Given the description of an element on the screen output the (x, y) to click on. 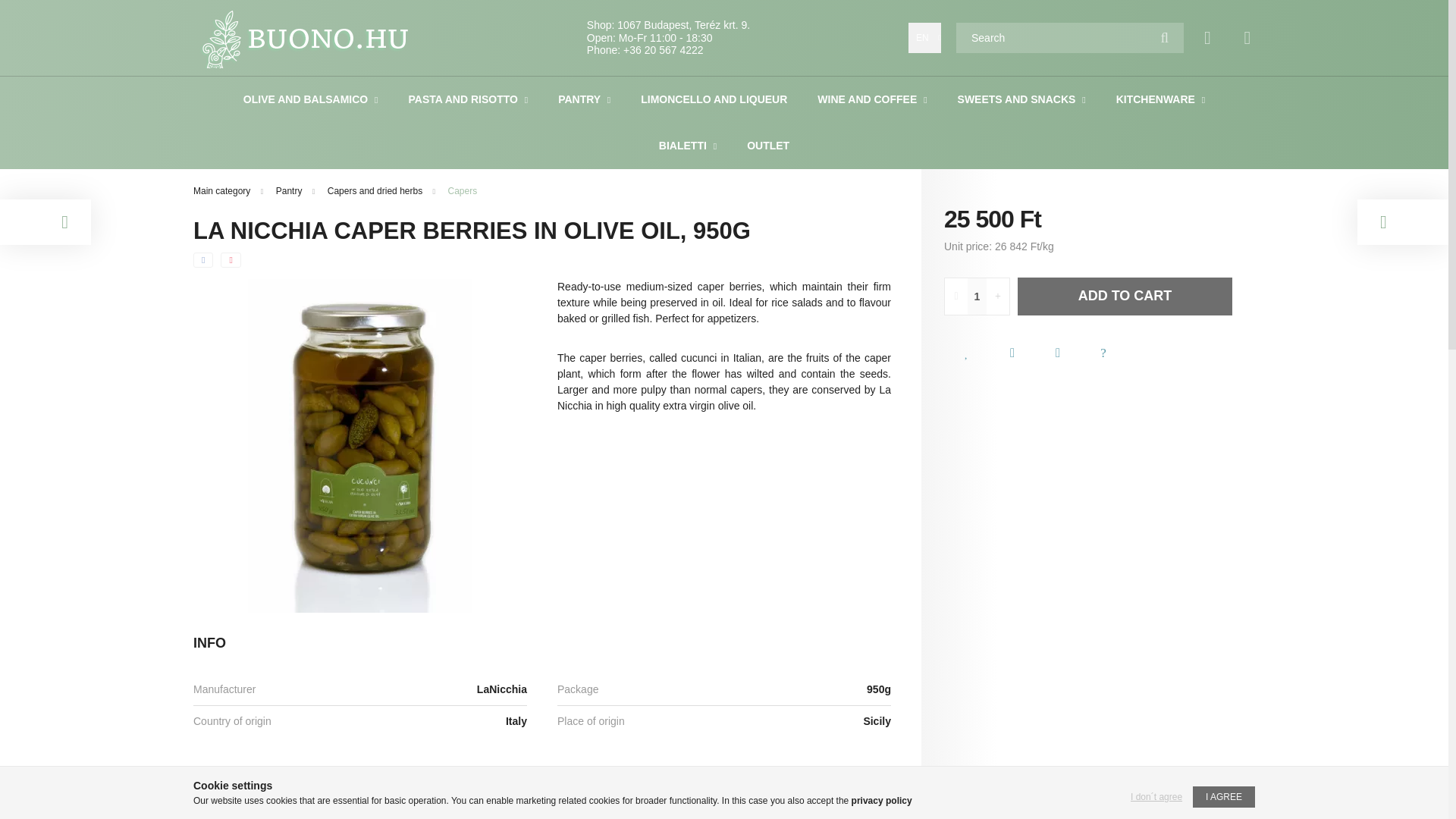
PANTRY (580, 99)
OLIVE AND BALSAMICO (307, 99)
La Nicchia Caper berries in olive oil, 950g (360, 445)
PASTA AND RISOTTO (463, 99)
Search (1164, 37)
Main category  (223, 190)
LIMONCELLO AND LIQUEUR (713, 99)
WINE AND COFFEE (868, 99)
Enter a longer search term! (1069, 37)
1 (977, 296)
